Given the description of an element on the screen output the (x, y) to click on. 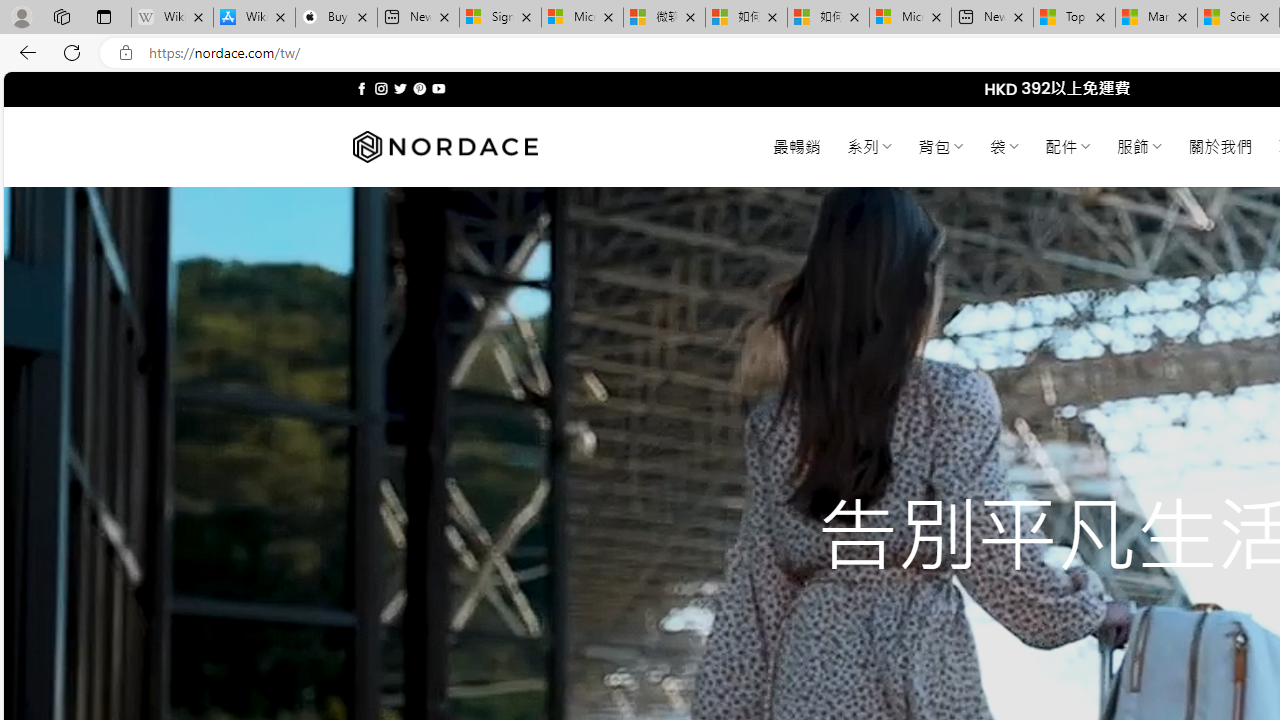
Follow on Pinterest (419, 88)
Wikipedia - Sleeping (171, 17)
Microsoft account | Account Checkup (910, 17)
Sign in to your Microsoft account (500, 17)
Marine life - MSN (1156, 17)
Top Stories - MSN (1074, 17)
Buy iPad - Apple (336, 17)
Follow on Facebook (361, 88)
